Given the description of an element on the screen output the (x, y) to click on. 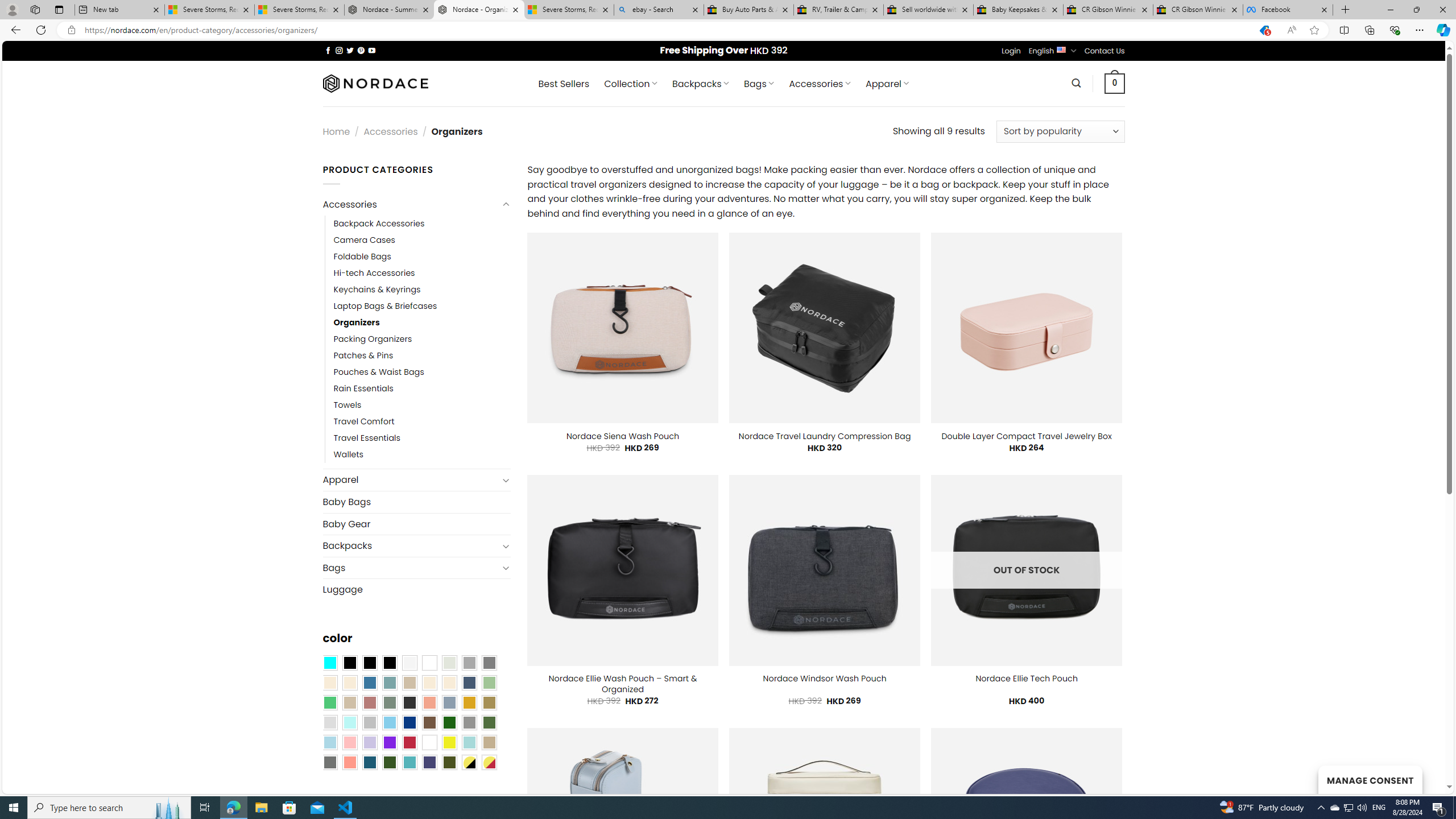
Aqua (468, 741)
Search (1076, 83)
Laptop Bags & Briefcases (422, 305)
Red (408, 741)
Nordace - Summer Adventures 2024 (389, 9)
Organizers (356, 321)
 0  (1115, 83)
Rain Essentials (363, 388)
Camera Cases (422, 239)
Nordace (374, 83)
Baby Gear (416, 523)
Travel Essentials (422, 438)
Close tab (1324, 9)
Yellow-Black (468, 762)
